Given the description of an element on the screen output the (x, y) to click on. 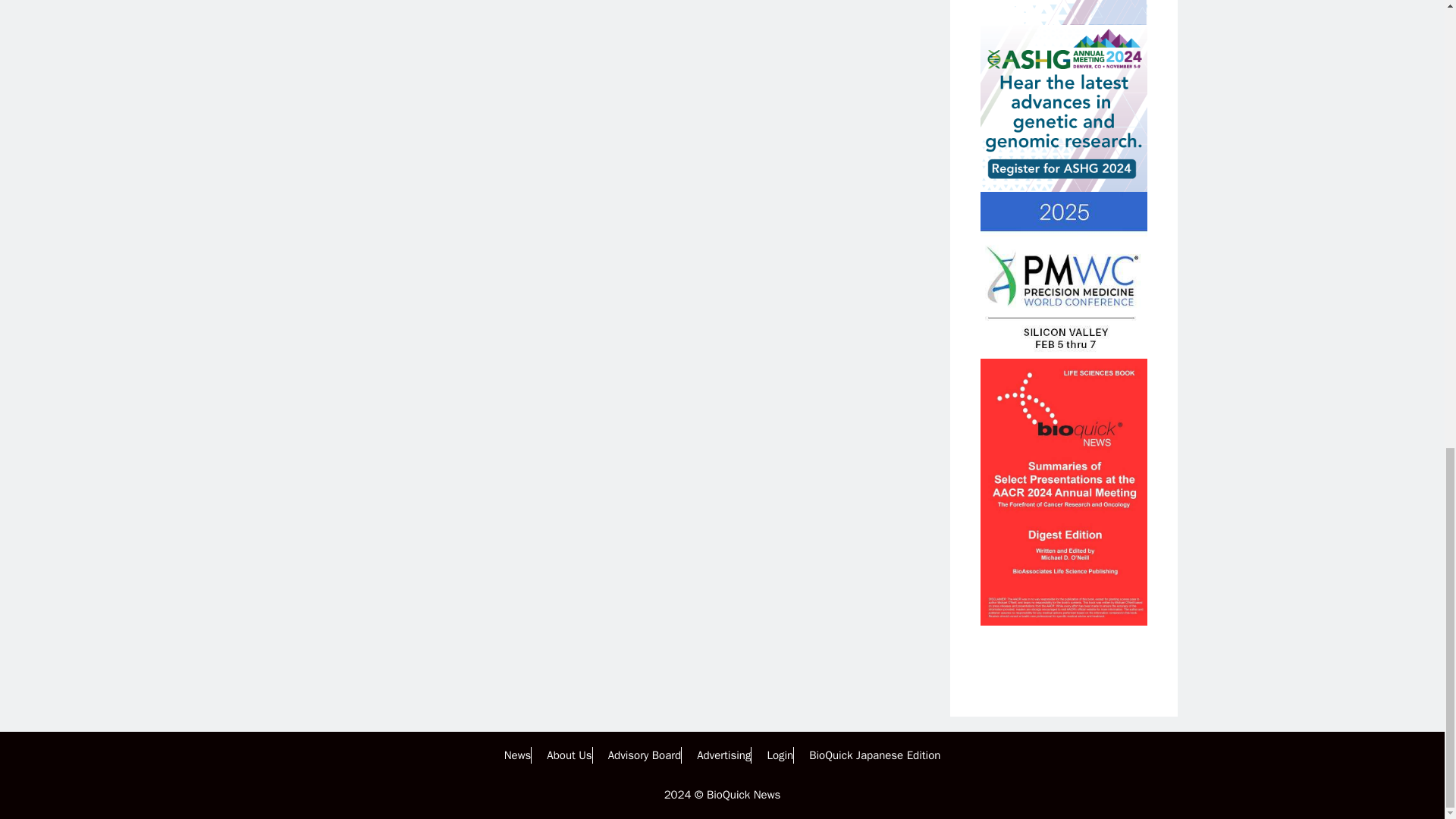
About Us (569, 755)
News (517, 755)
Scroll back to top (1406, 543)
Login (780, 755)
BioQuick Japanese Edition (874, 755)
Advisory Board (644, 755)
Advertising (724, 755)
